Given the description of an element on the screen output the (x, y) to click on. 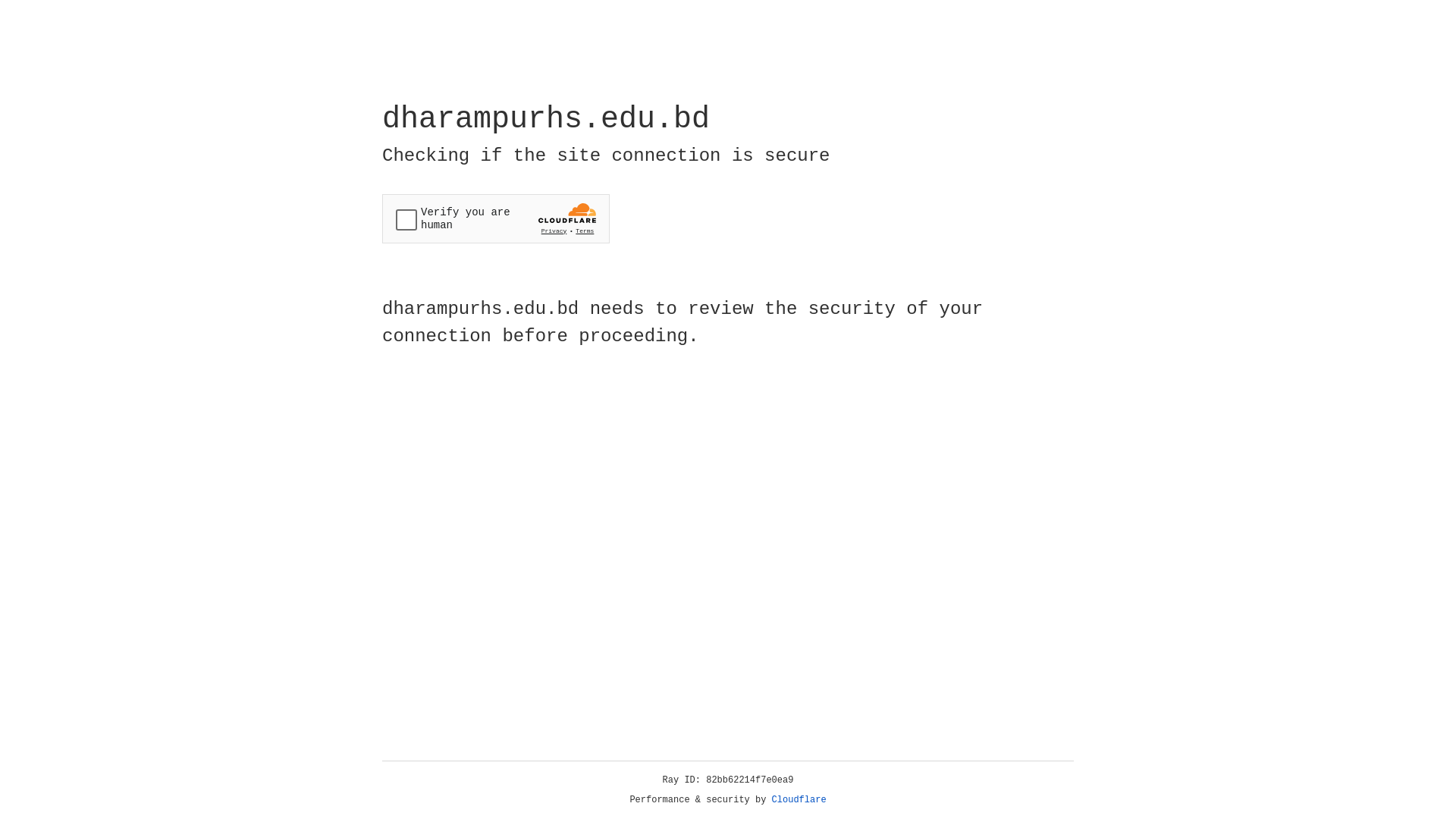
Widget containing a Cloudflare security challenge Element type: hover (495, 218)
Cloudflare Element type: text (798, 799)
